Given the description of an element on the screen output the (x, y) to click on. 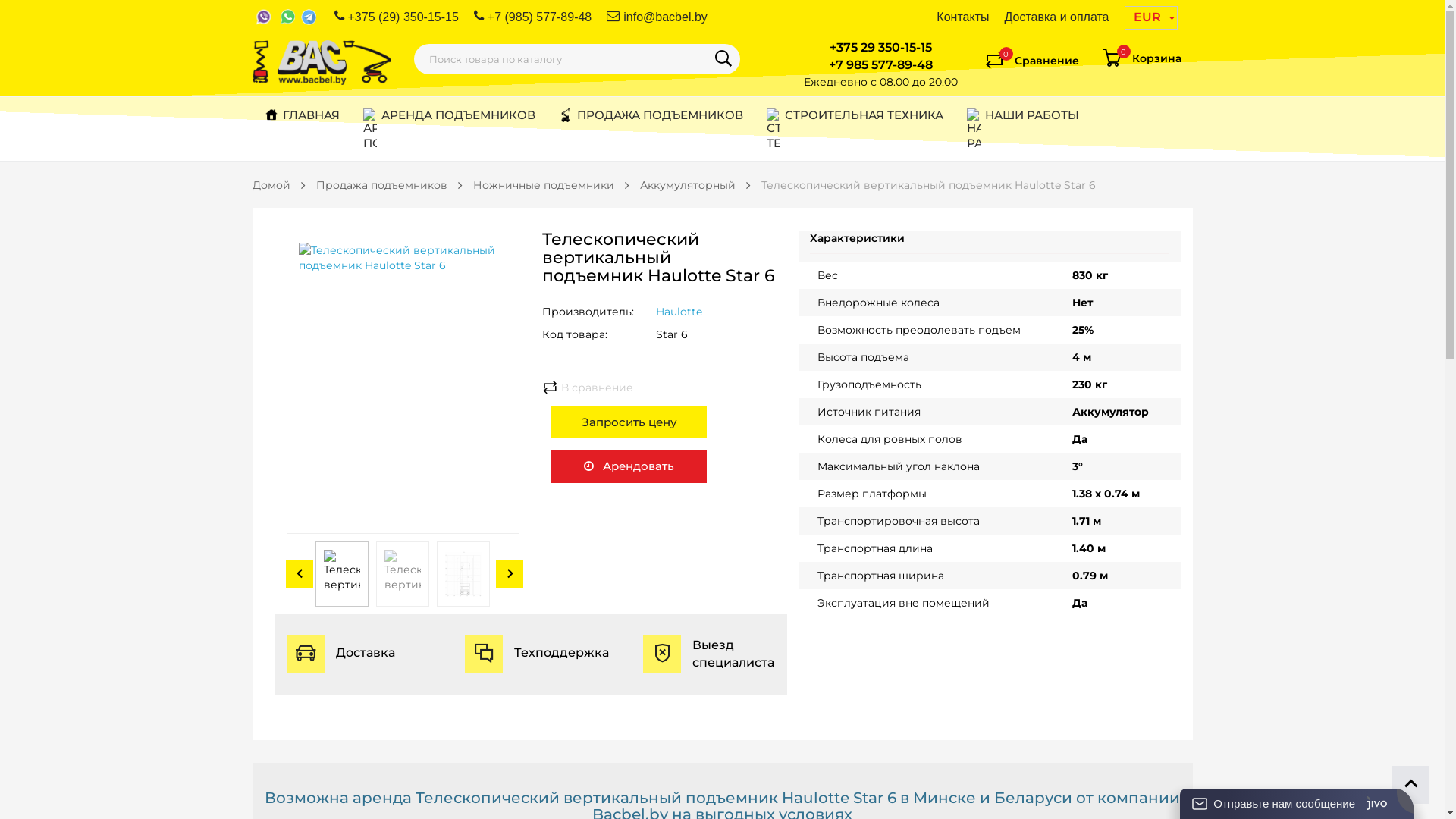
bacbel.by Element type: hover (320, 61)
Viber Element type: hover (263, 16)
+375 (29) 350-15-15 Element type: text (395, 17)
  EUR   Element type: text (1149, 17)
+7 (985) 577-89-48 Element type: text (532, 17)
+7 985 577-89-48 Element type: text (879, 64)
Haulotte Element type: text (678, 311)
+375 29 350-15-15 Element type: text (880, 47)
Telegram Element type: hover (309, 16)
WhatsApp Element type: hover (288, 16)
info@bacbel.by Element type: text (656, 17)
